Given the description of an element on the screen output the (x, y) to click on. 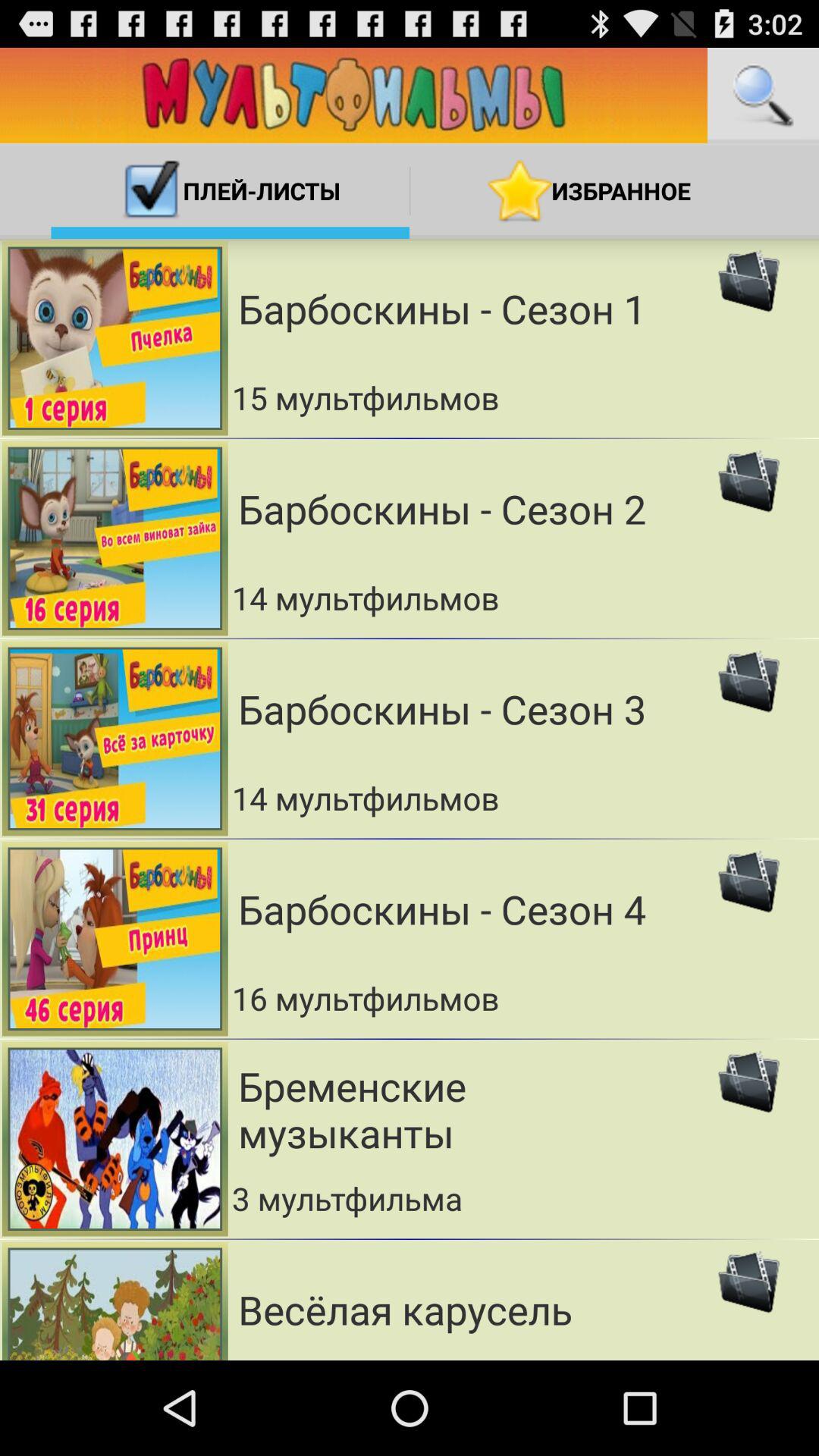
go to left of fifth option (115, 1139)
click on yellow color star image (520, 190)
click on first image of top right corner (748, 280)
